Given the description of an element on the screen output the (x, y) to click on. 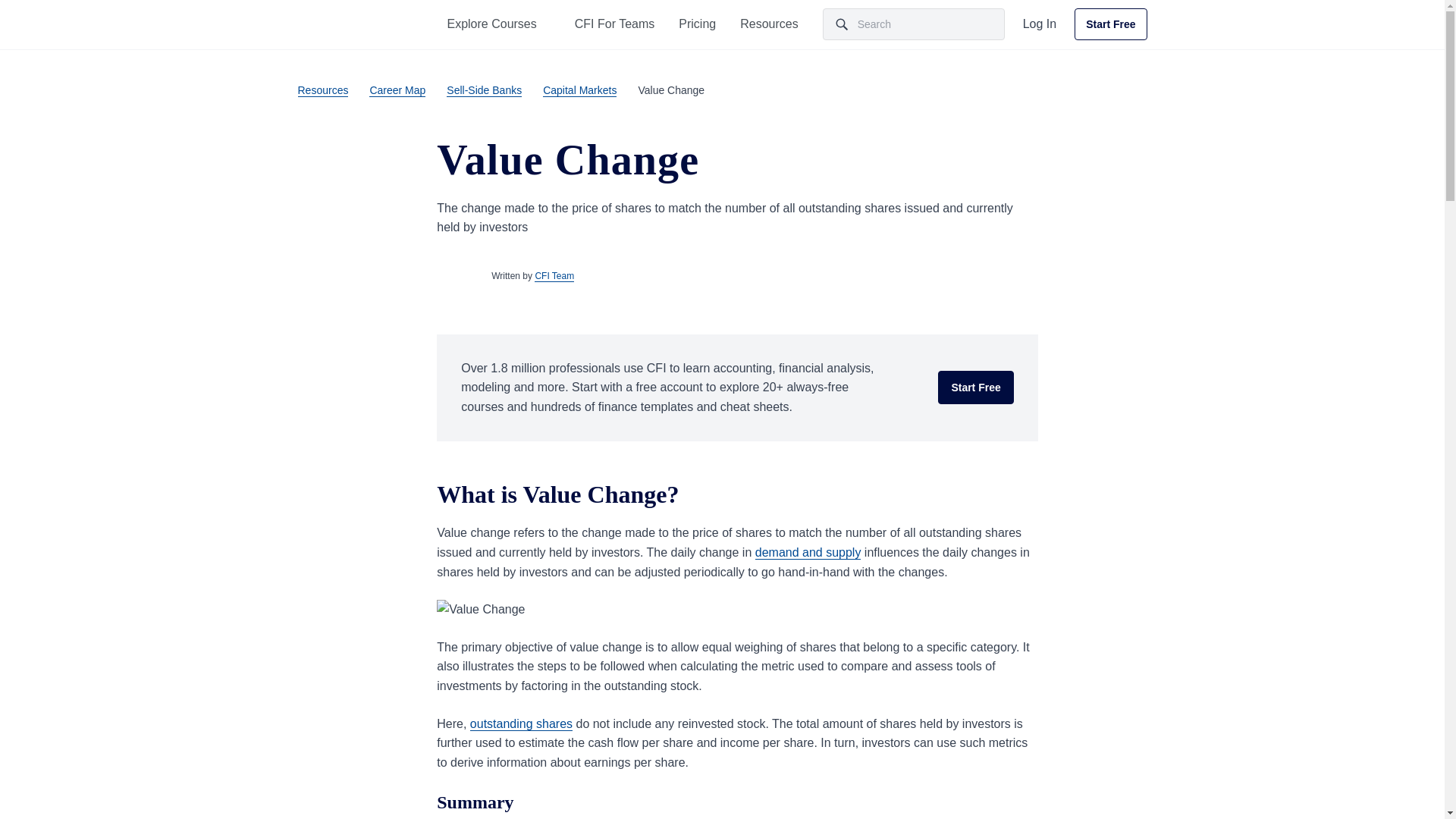
Go to Resources. (322, 89)
Go to the Career Map Resource Type archives. (397, 89)
Go to the Capital Markets Resource Type archives. (579, 89)
Go to the Sell-Side Banks Resource Type archives. (483, 89)
Corporate Finance Institute (337, 23)
